Given the description of an element on the screen output the (x, y) to click on. 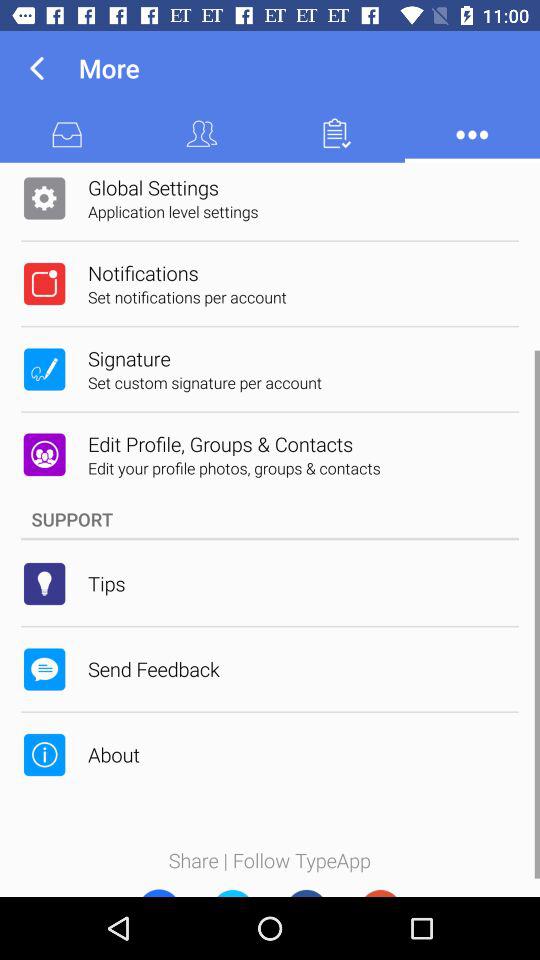
scroll to the send feedback icon (153, 668)
